Given the description of an element on the screen output the (x, y) to click on. 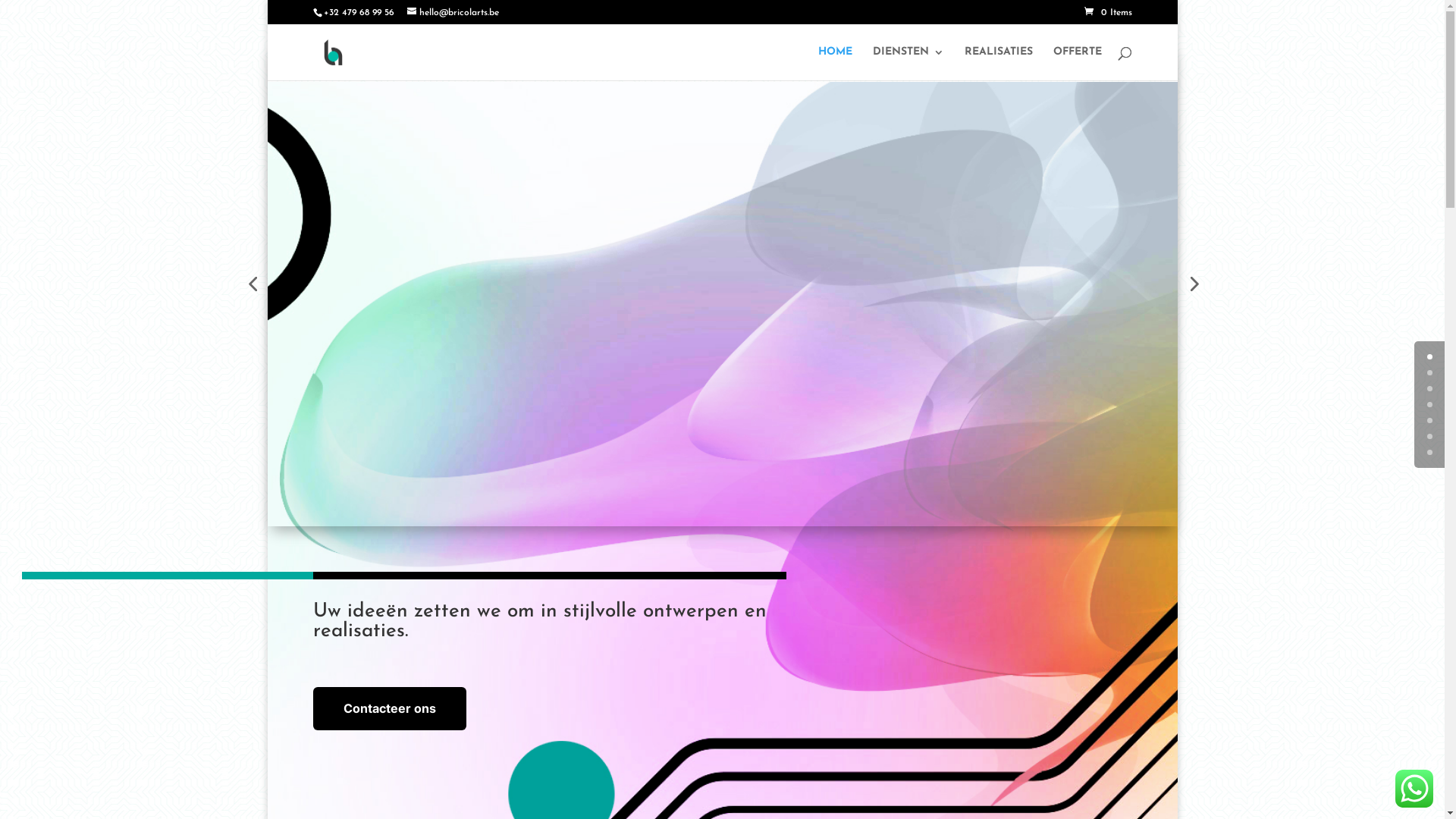
0 Element type: text (1429, 356)
4 Element type: text (1429, 420)
DIENSTEN Element type: text (907, 63)
3 Element type: text (1429, 404)
1 Element type: text (1429, 372)
2 Element type: text (1429, 388)
Contacteer ons Element type: text (388, 708)
hello@bricolarts.be Element type: text (452, 12)
6 Element type: text (1429, 452)
5 Element type: text (1429, 436)
REALISATIES Element type: text (998, 63)
0 Items Element type: text (1108, 12)
OFFERTE Element type: text (1076, 63)
HOME Element type: text (834, 63)
